Given the description of an element on the screen output the (x, y) to click on. 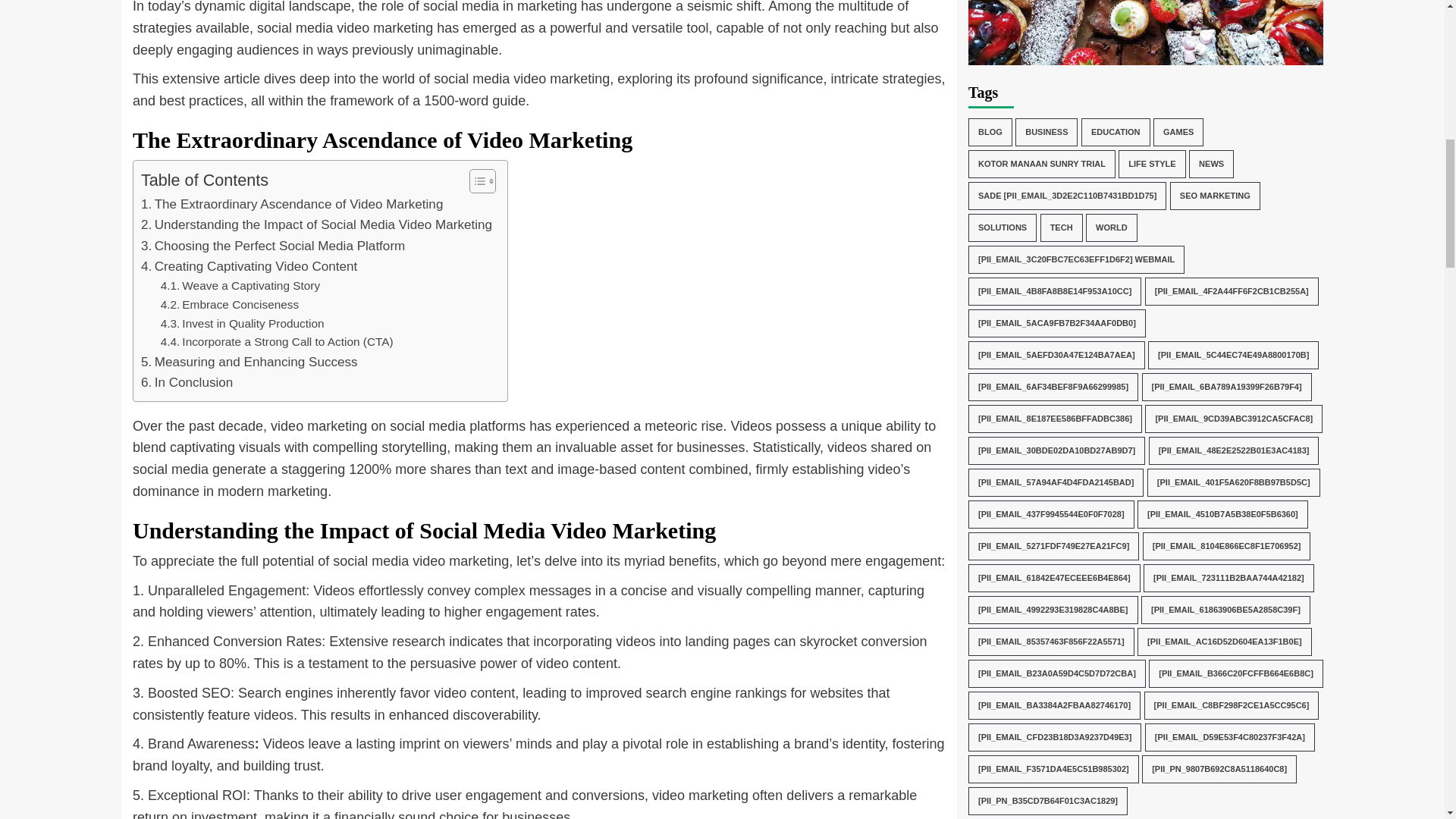
Choosing the Perfect Social Media Platform (272, 245)
Embrace Conciseness (229, 304)
Choosing the Perfect Social Media Platform (272, 245)
Invest in Quality Production (242, 323)
Creating Captivating Video Content (248, 266)
Weave a Captivating Story (240, 285)
Embrace Conciseness (229, 304)
Measuring and Enhancing Success (249, 362)
The Extraordinary Ascendance of Video Marketing (291, 204)
The Extraordinary Ascendance of Video Marketing (291, 204)
In Conclusion (186, 382)
Weave a Captivating Story (240, 285)
In Conclusion (186, 382)
Invest in Quality Production (242, 323)
Understanding the Impact of Social Media Video Marketing (316, 224)
